Given the description of an element on the screen output the (x, y) to click on. 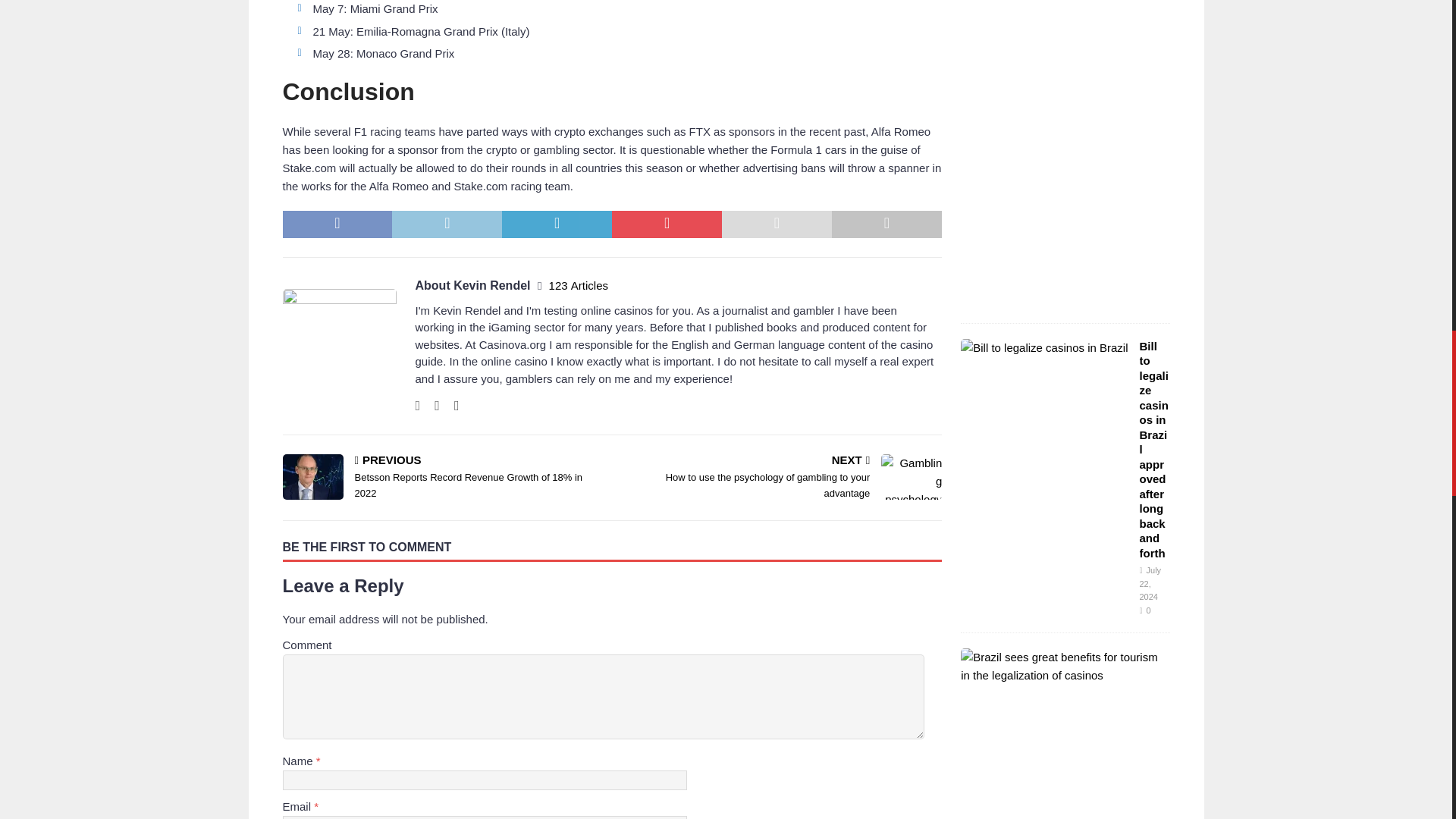
Follow Kevin Rendel on Instagram (431, 405)
Follow Kevin Rendel on Twitter (451, 405)
More articles written by Kevin Rendel' (578, 285)
